Given the description of an element on the screen output the (x, y) to click on. 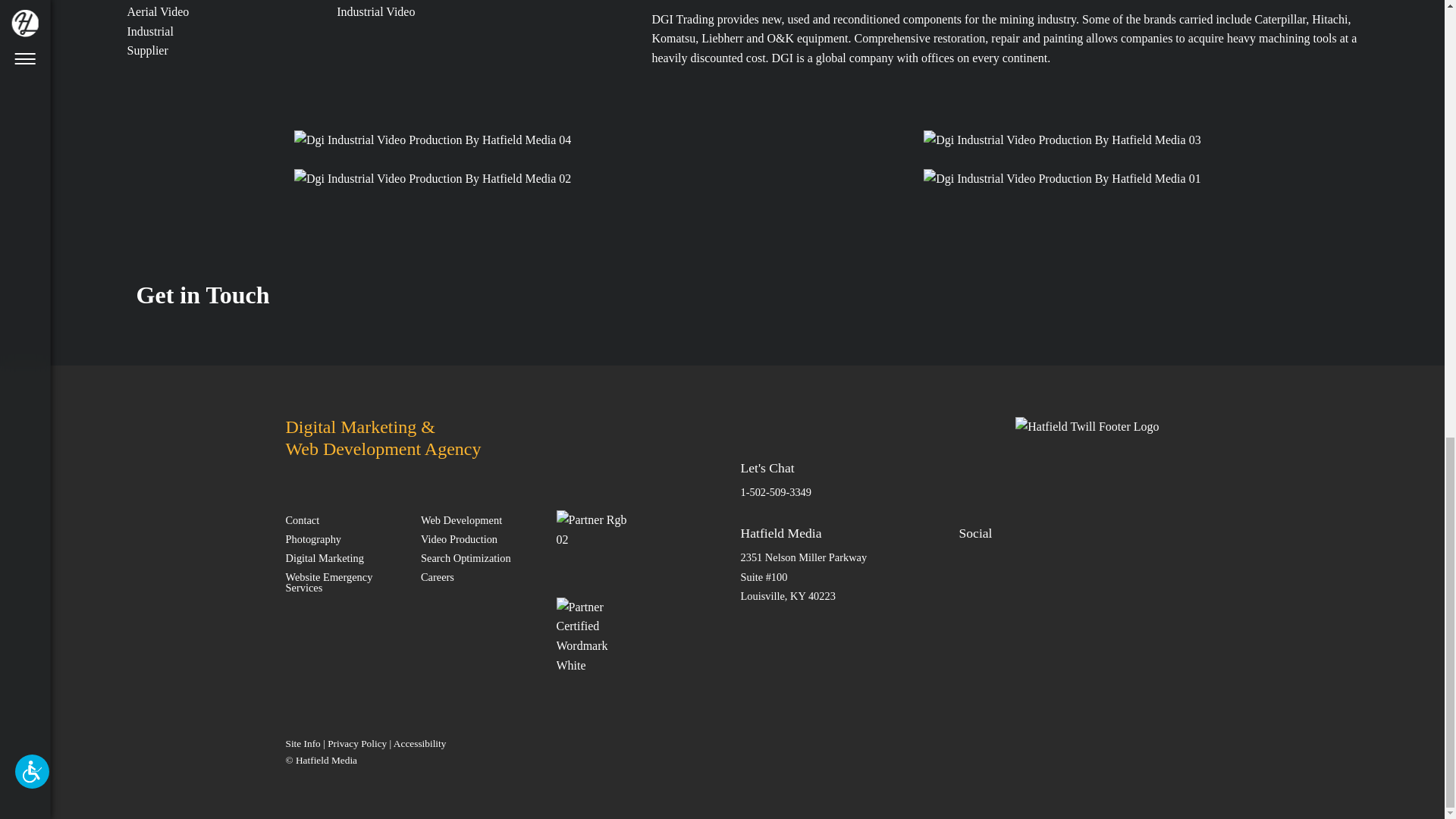
Careers (479, 576)
Digital Marketing (344, 557)
Contact (344, 519)
Photography (344, 538)
Web Development (479, 519)
Video Production (479, 538)
Search Optimization (479, 557)
Site Info (302, 743)
Website Emergency Services (344, 582)
Contact (344, 519)
1-502-509-3349 (774, 491)
Privacy Policy (357, 743)
Accessibility (419, 743)
Web Development (479, 519)
